Given the description of an element on the screen output the (x, y) to click on. 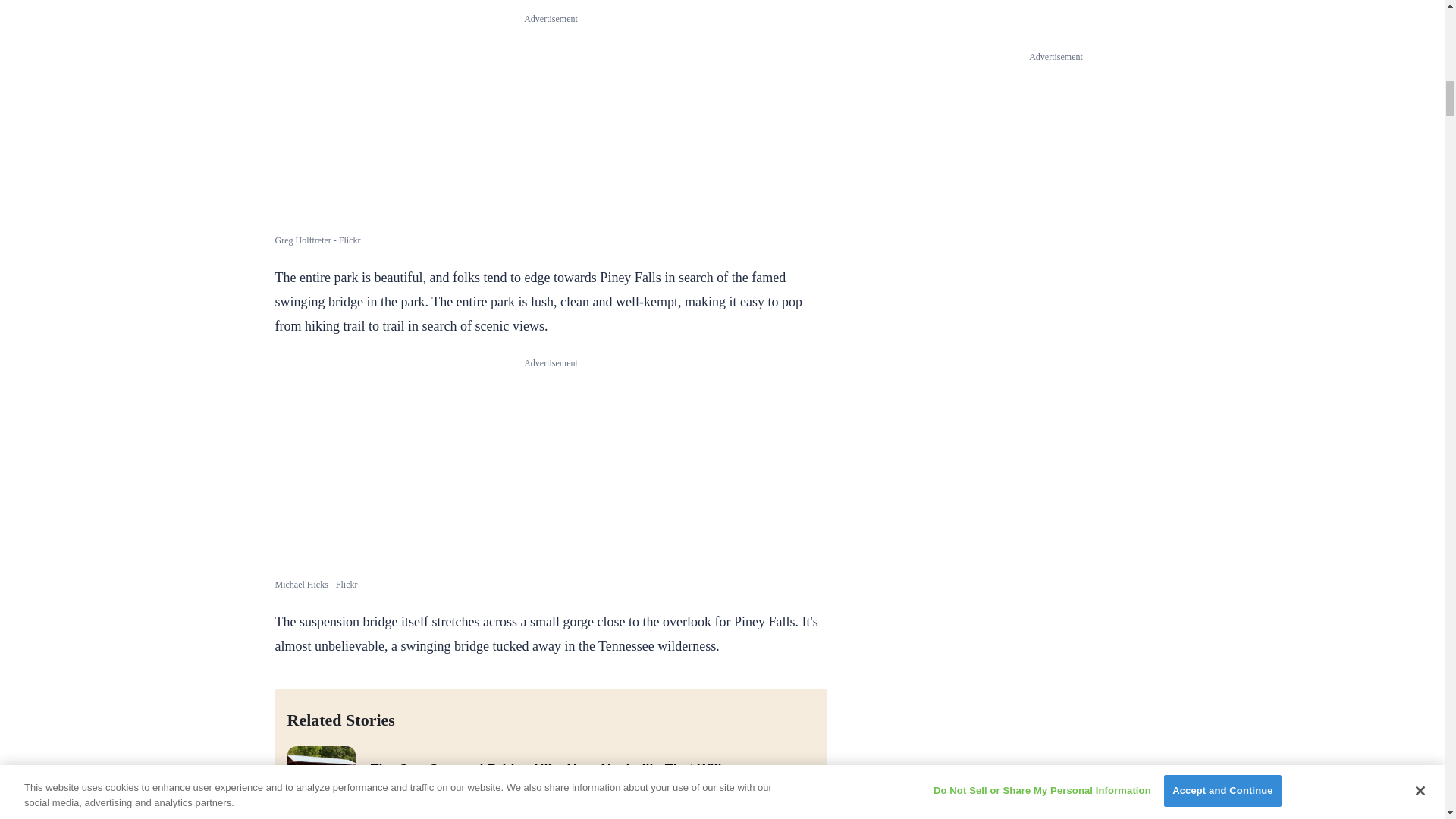
3rd party ad content (549, 120)
